Given the description of an element on the screen output the (x, y) to click on. 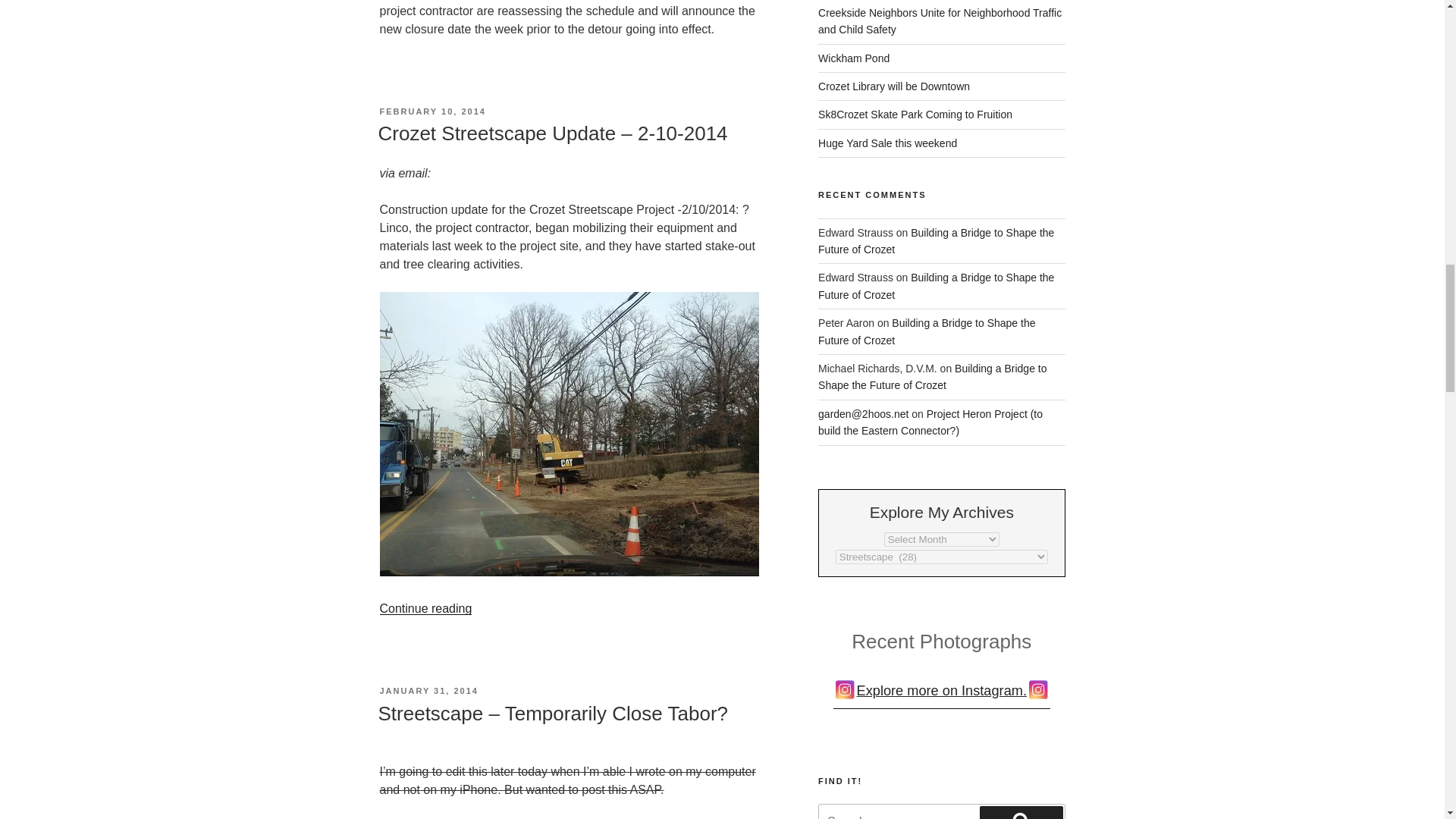
Crozet Streetscape 2-10-2014 by JimDuncanCville, on Flickr (568, 571)
JANUARY 31, 2014 (427, 690)
FEBRUARY 10, 2014 (431, 111)
